Given the description of an element on the screen output the (x, y) to click on. 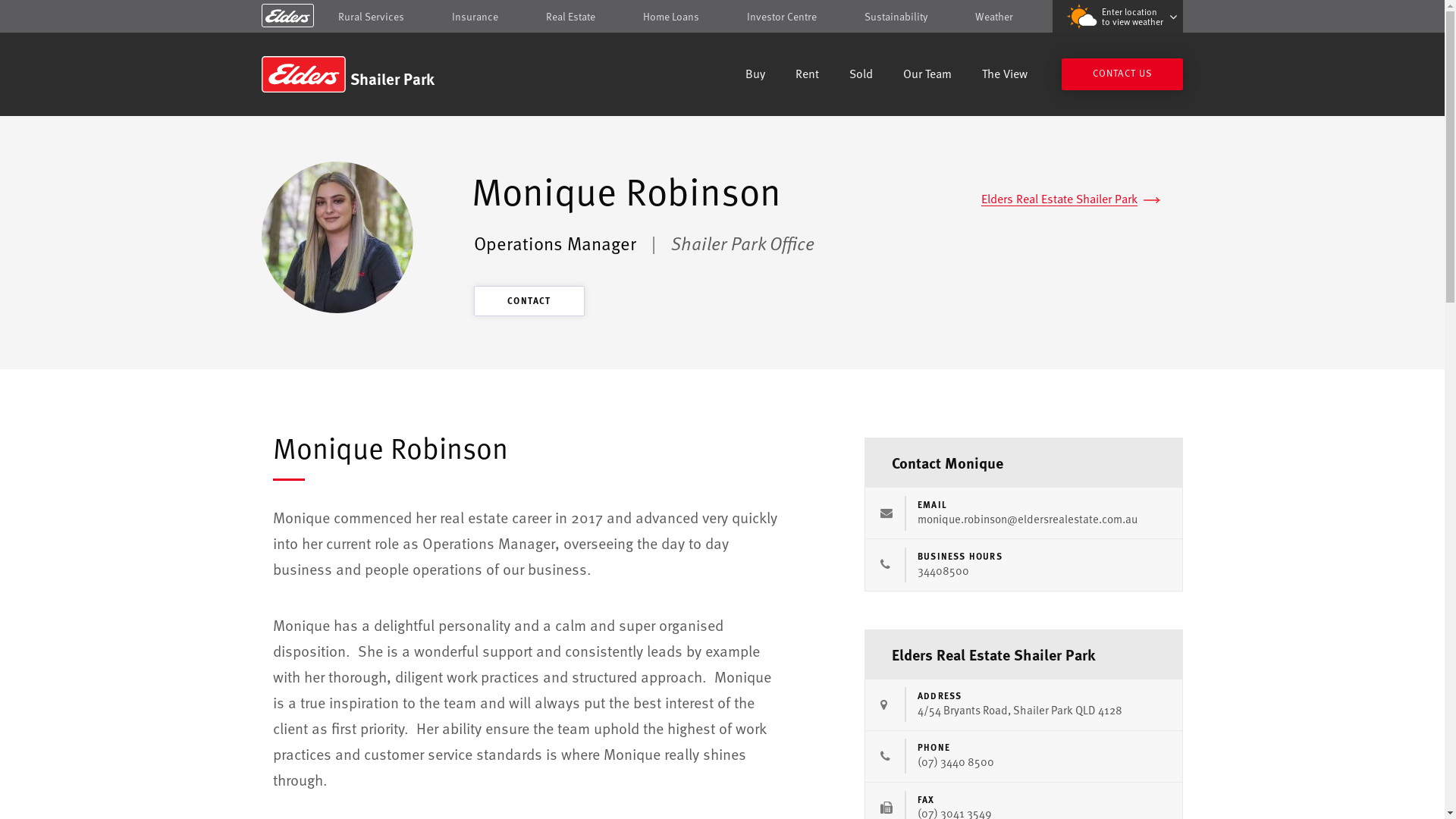
Weather Element type: text (994, 16)
Insurance Element type: text (474, 16)
The View Element type: text (1004, 75)
CONTACT Element type: text (528, 300)
Sold Element type: text (860, 75)
Enter location to view weather Element type: text (1117, 16)
Elders Real Estate Shailer Park Element type: text (1070, 198)
Our Team Element type: text (927, 75)
Skip to content Element type: text (722, 17)
Shailer Park Element type: text (369, 74)
Rent Element type: text (807, 75)
Rural Services Element type: text (371, 16)
Real Estate Element type: text (570, 16)
Home Loans Element type: text (671, 16)
Shailer Park Office Element type: text (742, 242)
CONTACT US Element type: text (1122, 74)
Sustainability Element type: text (895, 16)
Investor Centre Element type: text (781, 16)
Buy Element type: text (755, 75)
